Given the description of an element on the screen output the (x, y) to click on. 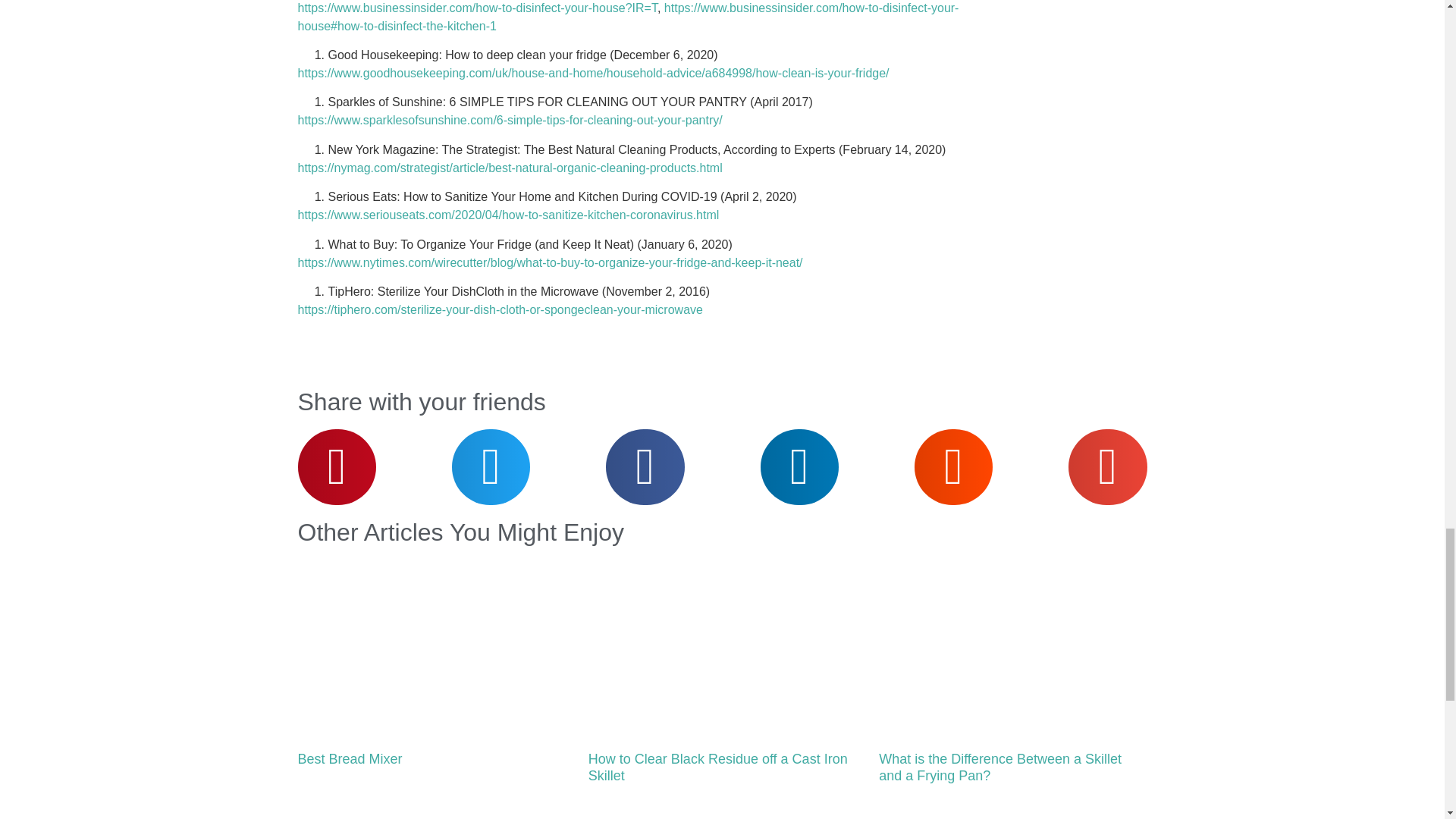
Other Articles You Might Enjoy (460, 532)
What is the Difference Between a Skillet and a Frying Pan? (1000, 766)
Best Bread Mixer (349, 758)
How to Clear Black Residue off a Cast Iron Skillet (717, 766)
